Given the description of an element on the screen output the (x, y) to click on. 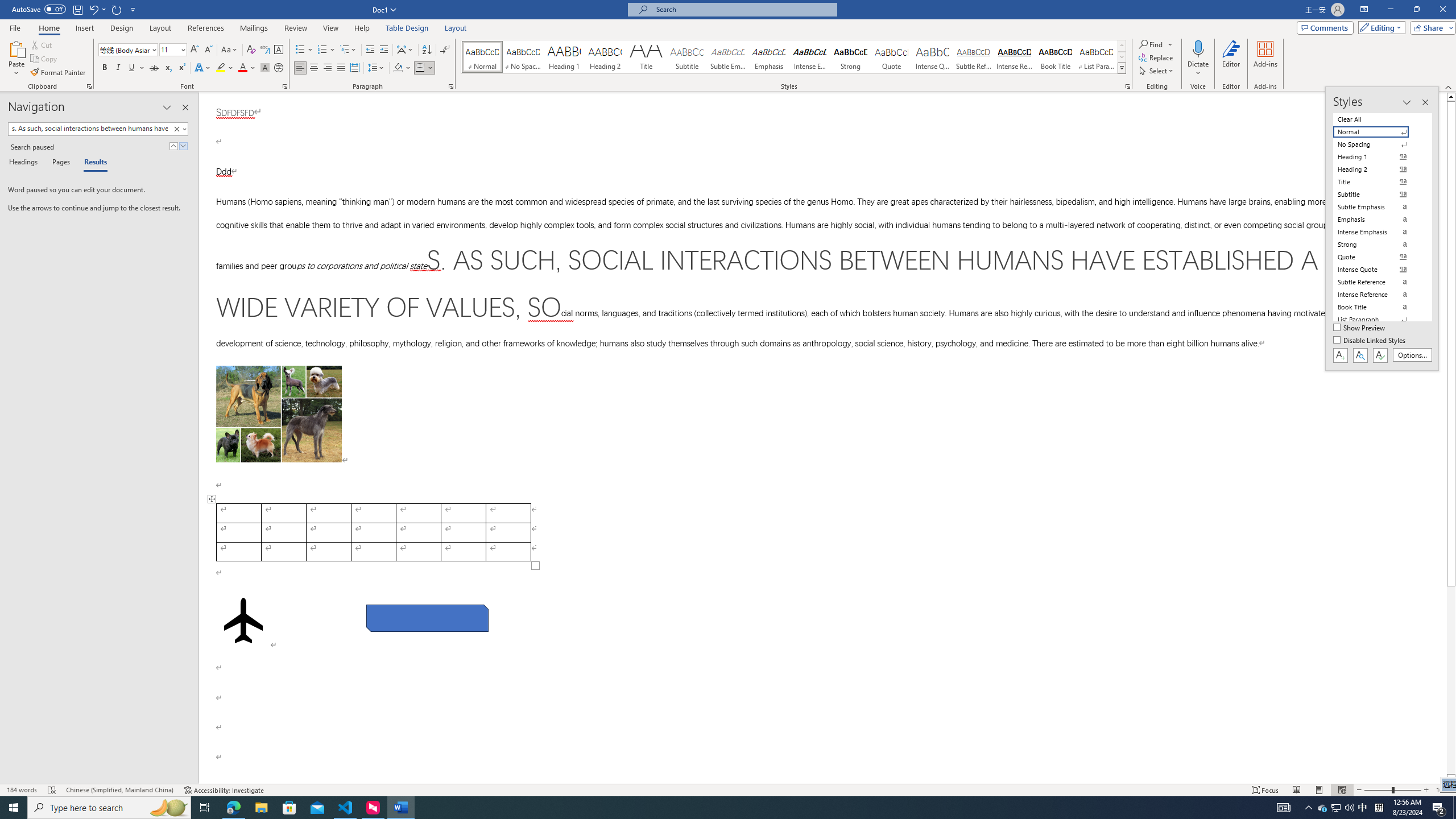
Previous Result (173, 145)
Clear (176, 128)
Airplane with solid fill (242, 619)
